Given the description of an element on the screen output the (x, y) to click on. 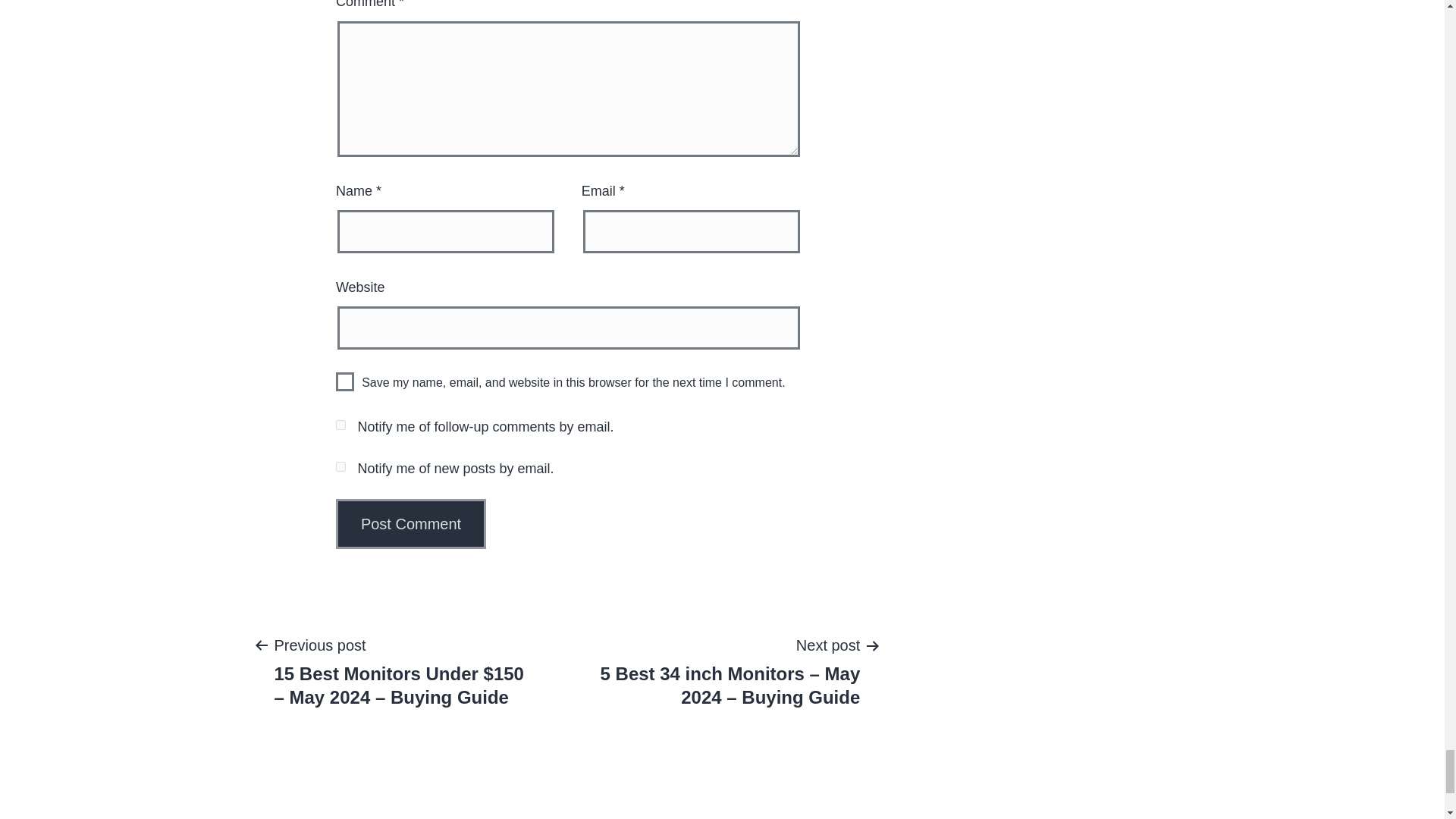
yes (344, 381)
Post Comment (411, 523)
